Given the description of an element on the screen output the (x, y) to click on. 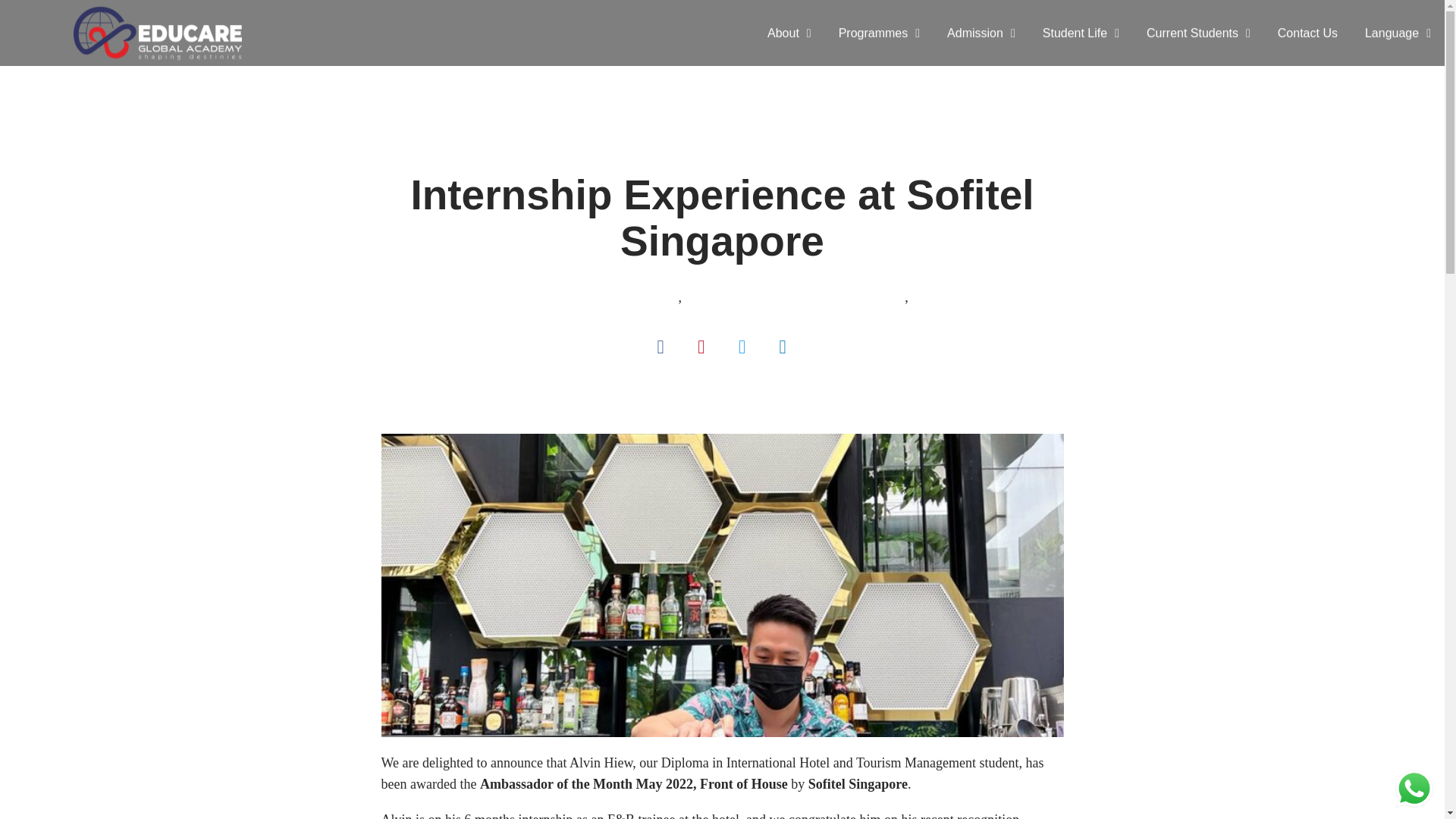
Admission (981, 32)
Student Life (1080, 32)
Current Students (1197, 32)
WhatsApp us (1413, 788)
Contact Us (1307, 32)
Programmes (879, 32)
